Given the description of an element on the screen output the (x, y) to click on. 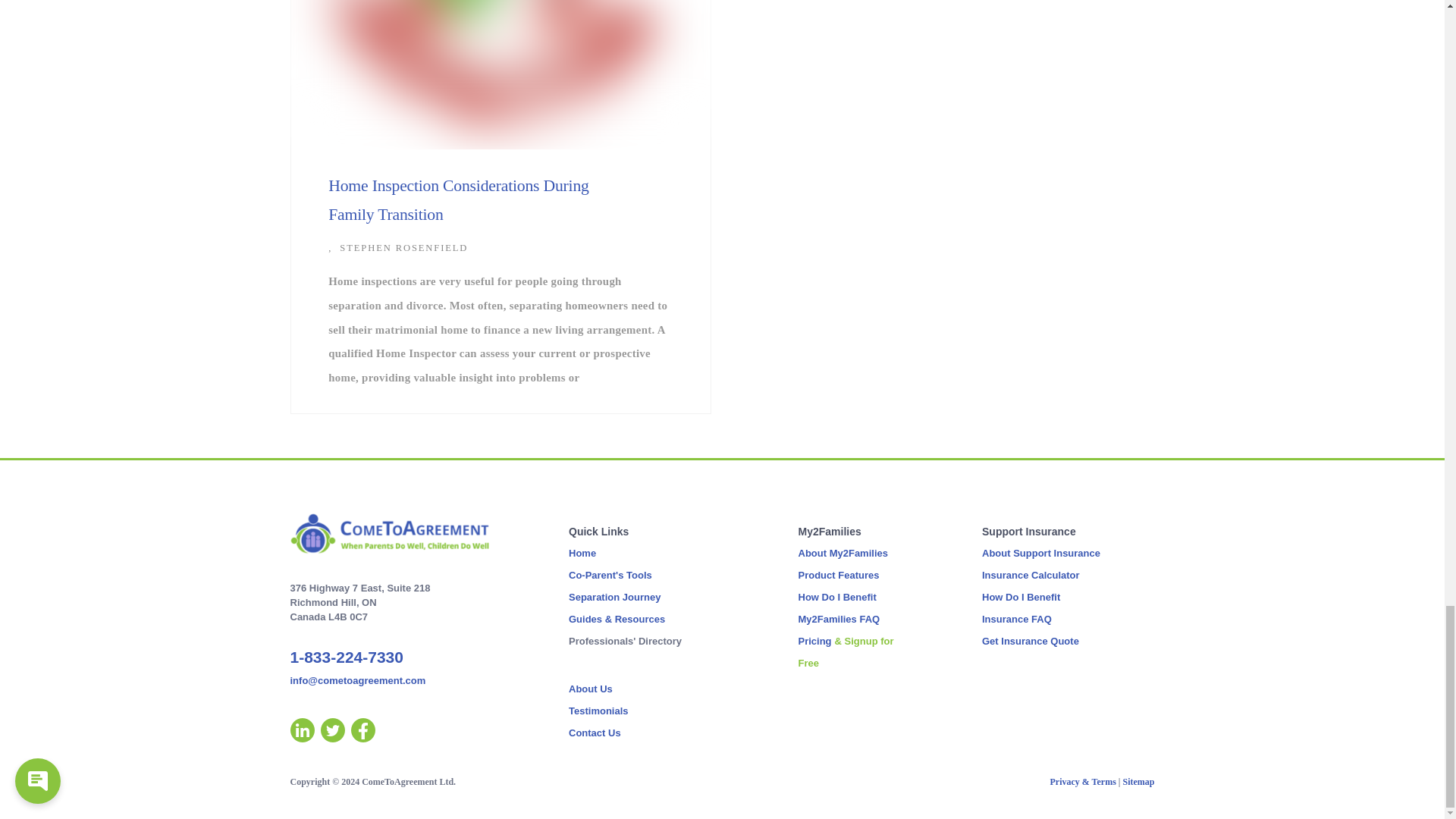
Page 1 (499, 781)
Page 1 (389, 533)
Page 1 (943, 781)
Page 1 (389, 635)
